Given the description of an element on the screen output the (x, y) to click on. 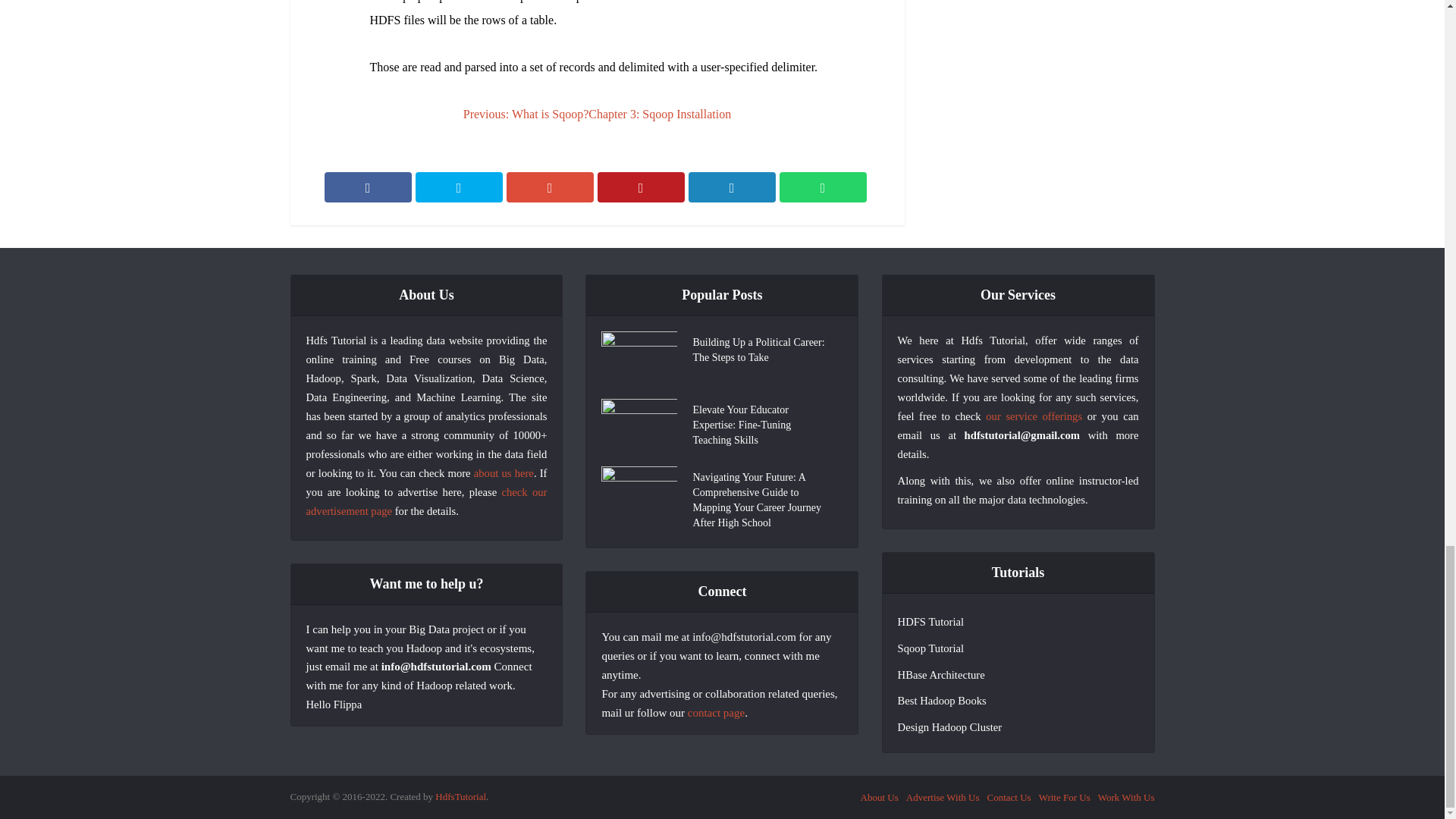
Building Up a Political Career: The Steps to Take (764, 348)
Elevate Your Educator Expertise: Fine-Tuning Teaching Skills (764, 422)
